Given the description of an element on the screen output the (x, y) to click on. 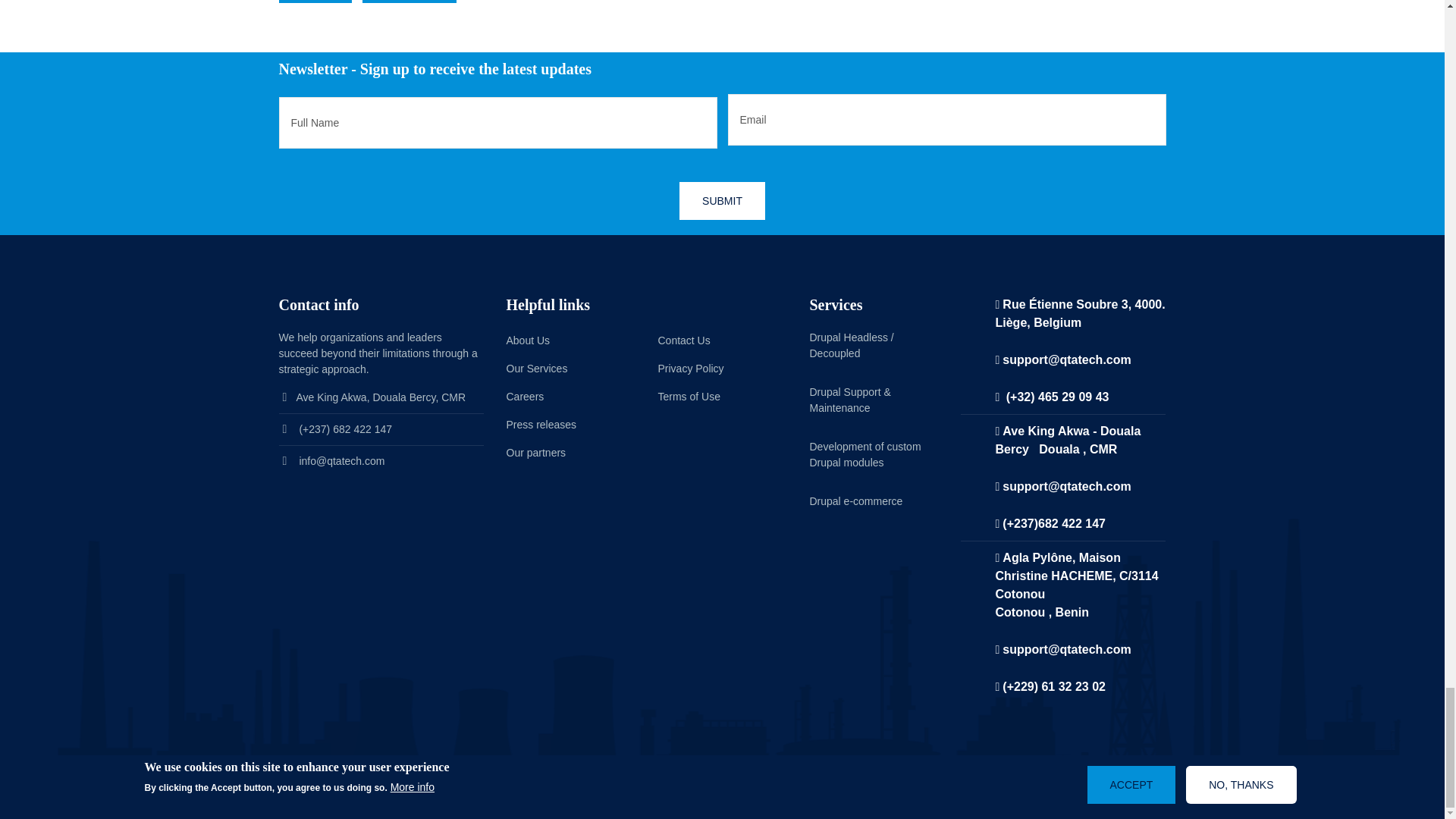
Save (315, 1)
Submit (722, 200)
Preview (409, 1)
